Given the description of an element on the screen output the (x, y) to click on. 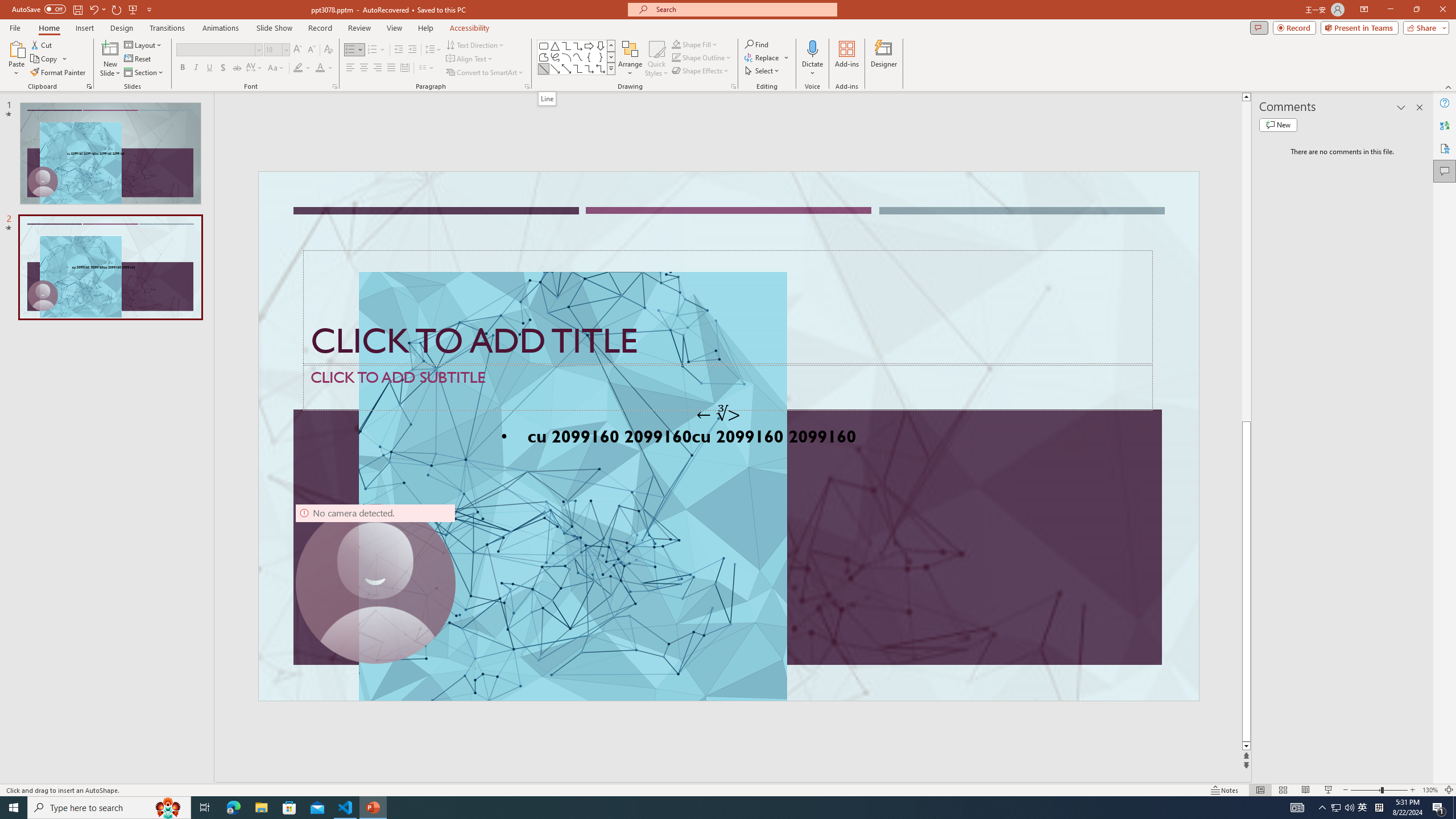
Search (Ctrl+Shift+F) (76, 265)
Gmail (362, 78)
Debug Console (Ctrl+Shift+Y) (486, 533)
Timeline Section (188, 635)
Wikipedia, the free encyclopedia (247, 78)
